Given the description of an element on the screen output the (x, y) to click on. 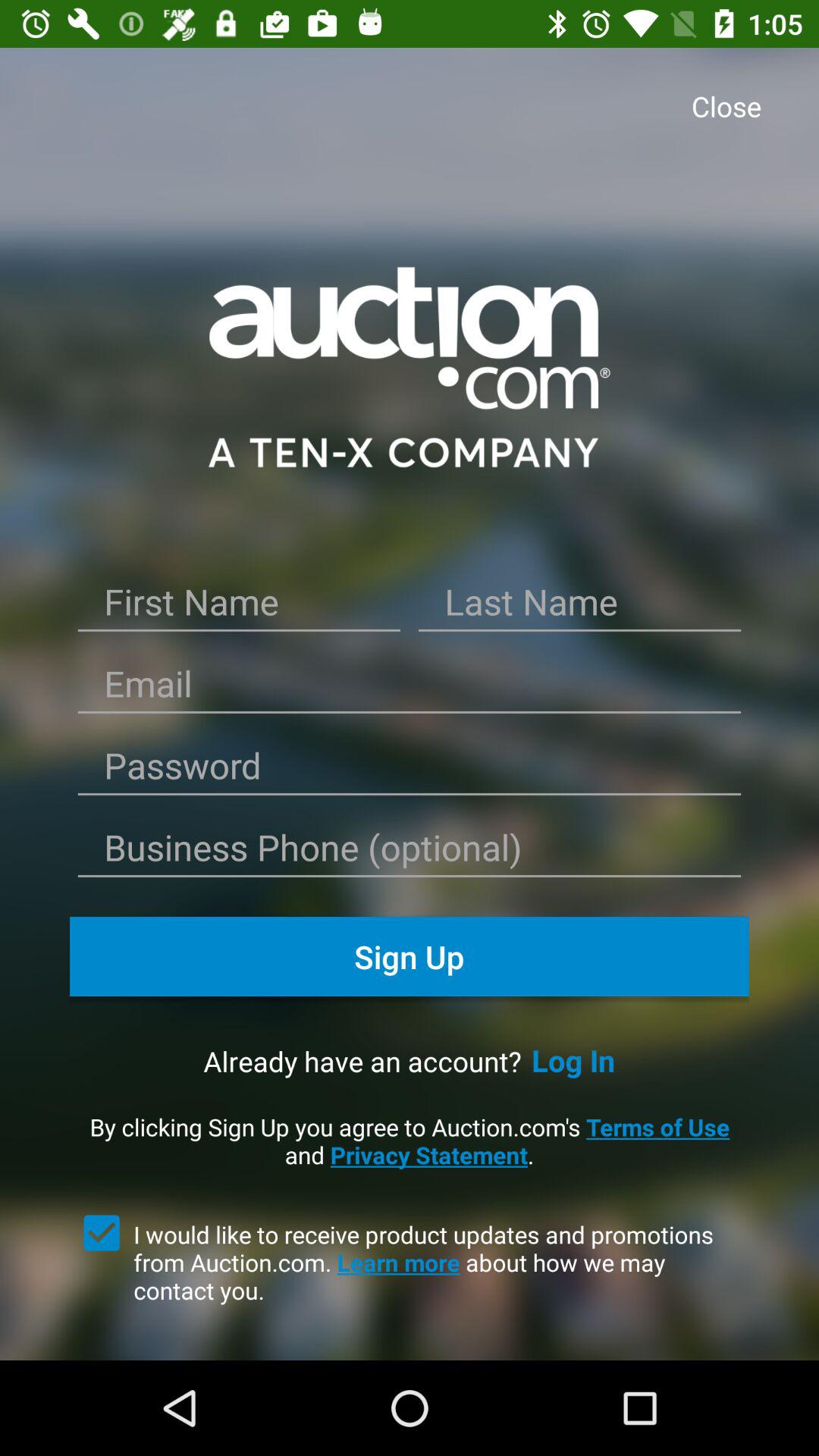
enter email address to sign up (409, 689)
